Given the description of an element on the screen output the (x, y) to click on. 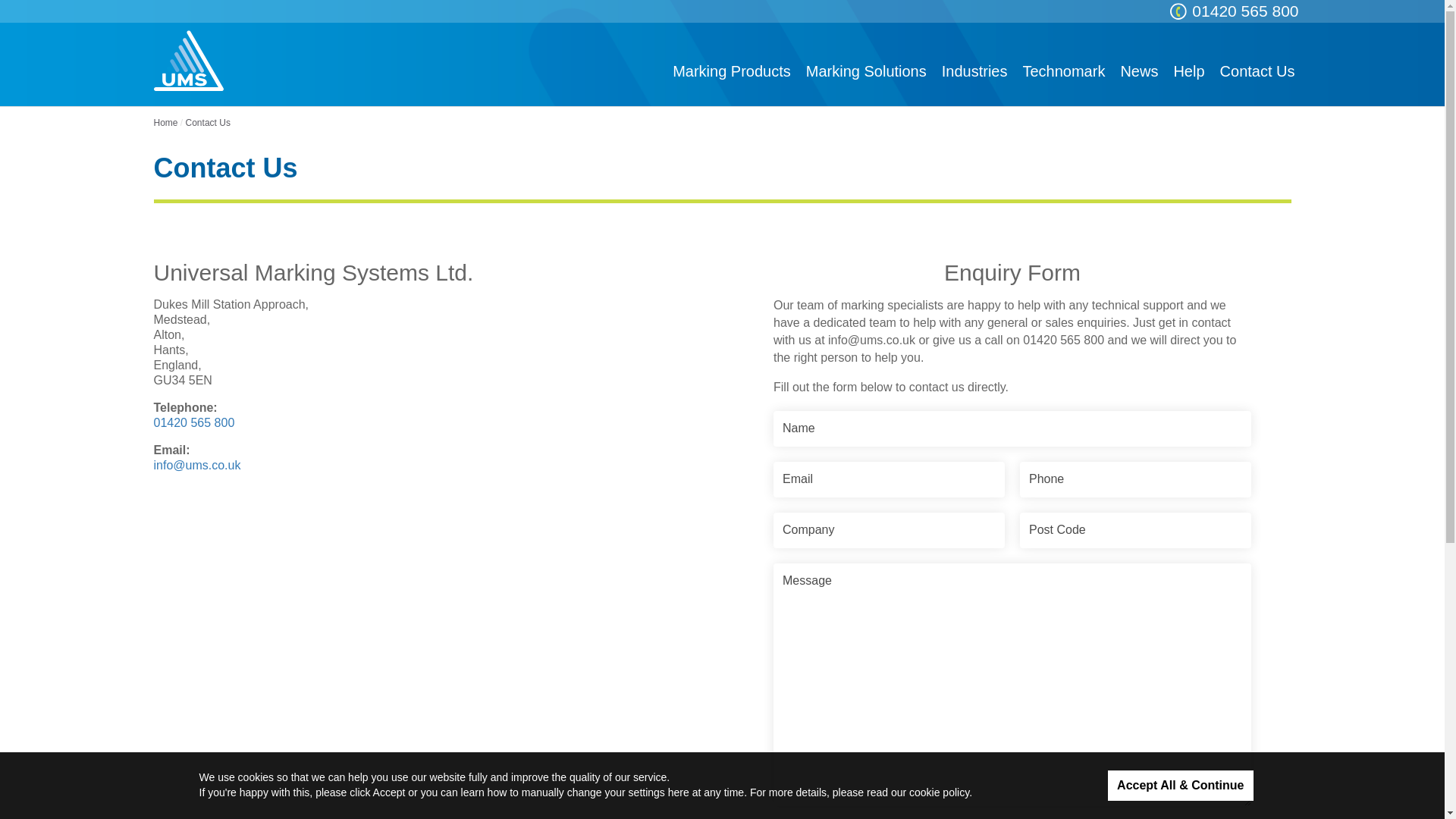
Marking Products (731, 71)
Help (1188, 71)
Industries (974, 71)
Email (888, 479)
Marking Solutions (865, 71)
Post Code (1135, 529)
Phone (1135, 479)
Company (888, 529)
Universal Marking Systems Ltd. (187, 60)
Technomark (1063, 71)
